Given the description of an element on the screen output the (x, y) to click on. 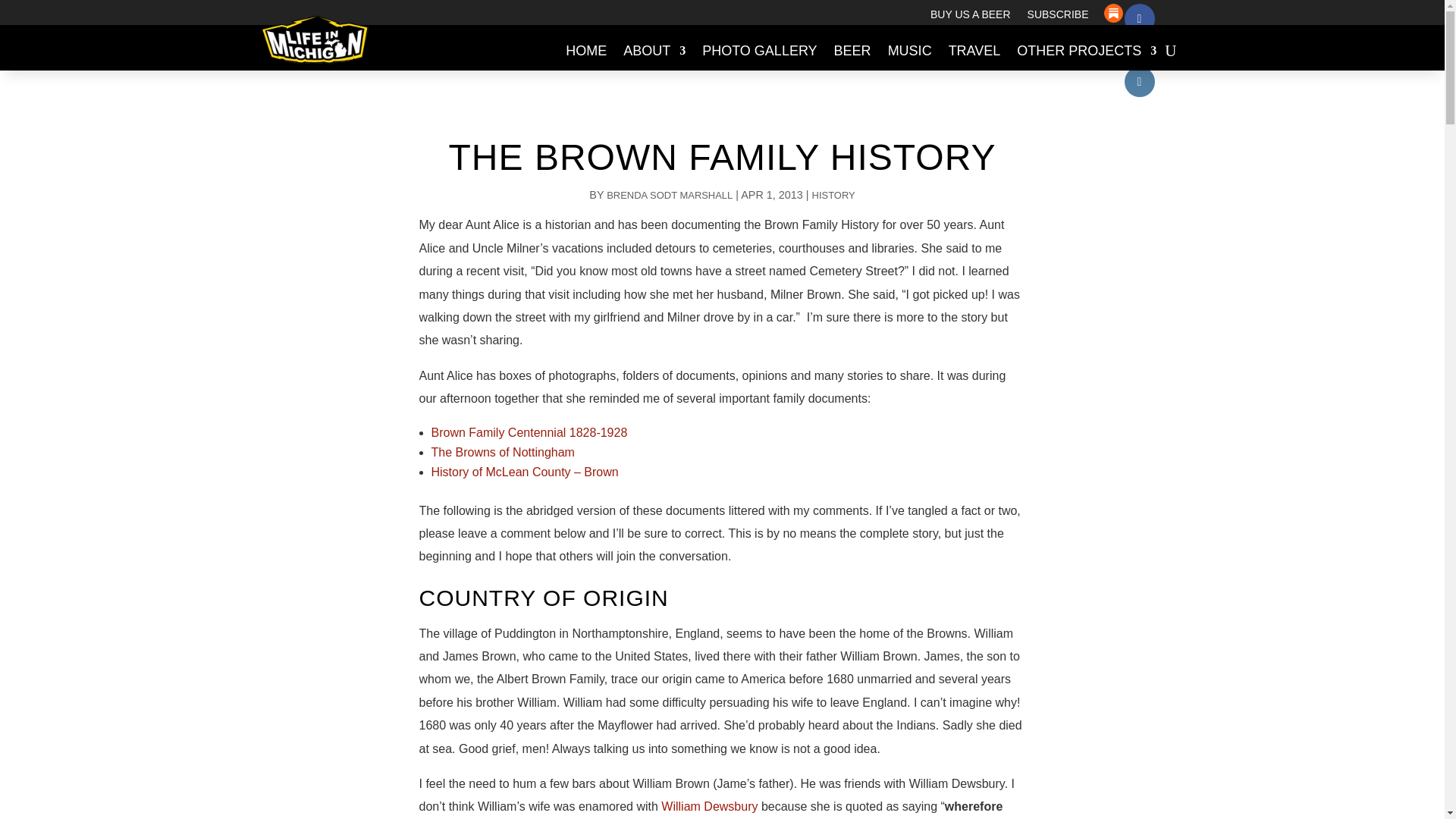
Brown Family Centennial 1828-1928 (528, 431)
MUSIC (909, 50)
HOME (586, 50)
Posts by Brenda Sodt Marshall (669, 194)
BEER (852, 50)
BUY US A BEER (970, 17)
OTHER PROJECTS (1086, 50)
ABOUT (654, 50)
SUBSCRIBE (1058, 17)
PHOTO GALLERY (758, 50)
HISTORY (834, 194)
BRENDA SODT MARSHALL (669, 194)
TRAVEL (975, 50)
